Given the description of an element on the screen output the (x, y) to click on. 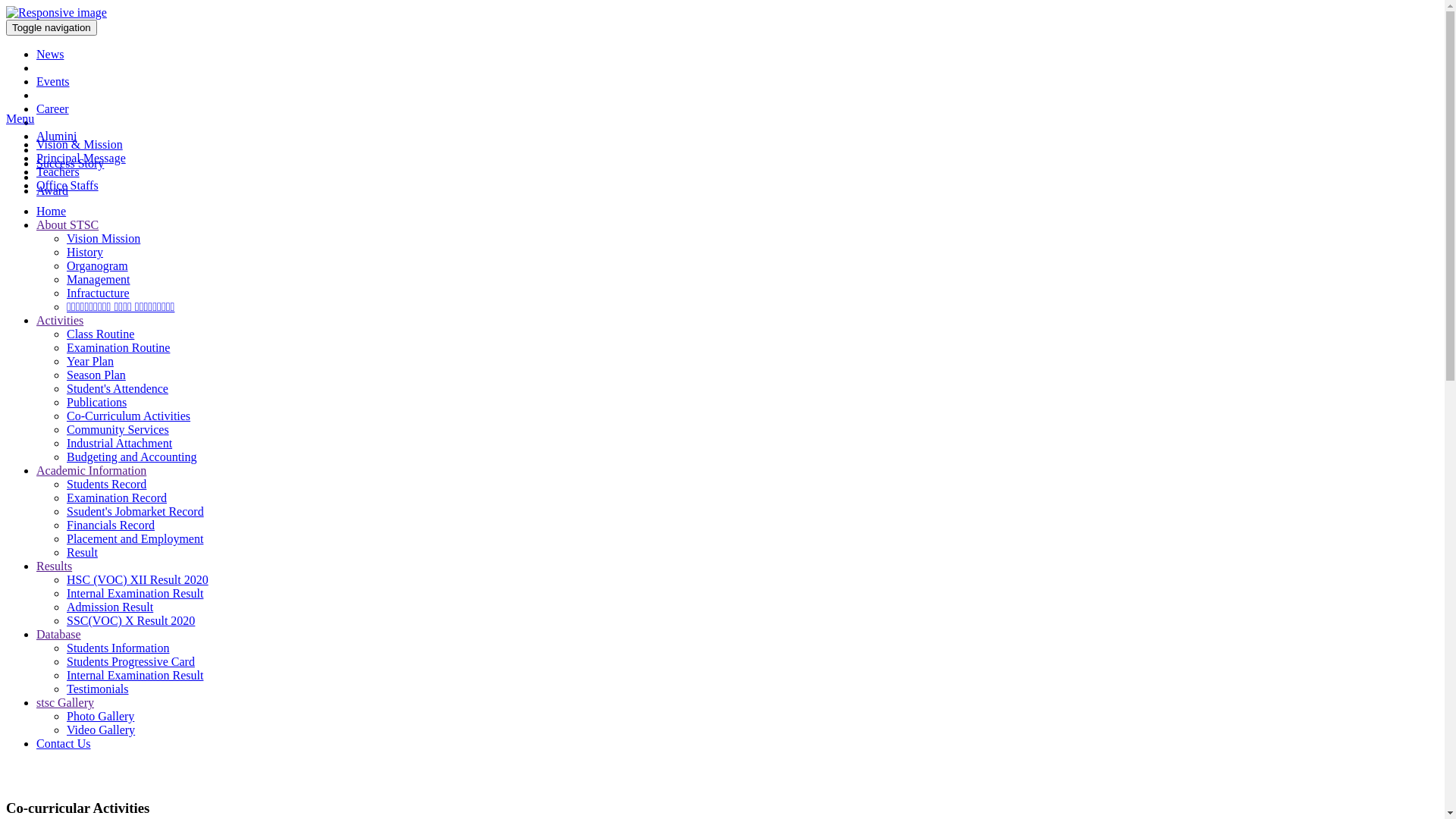
Season Plan Element type: text (95, 374)
Principal Message Element type: text (80, 157)
Vision Mission Element type: text (103, 238)
Examination Routine Element type: text (117, 347)
Menu Element type: text (20, 118)
Students Information Element type: text (117, 647)
Students Record Element type: text (106, 483)
Organogram Element type: text (97, 265)
Examination Record Element type: text (116, 497)
Career Element type: text (52, 108)
Contact Us Element type: text (63, 743)
SSC(VOC) X Result 2020 Element type: text (130, 620)
Ssudent's Jobmarket Record Element type: text (134, 511)
Testimonials Element type: text (97, 688)
Year Plan Element type: text (89, 360)
Office Staffs Element type: text (67, 184)
Publications Element type: text (96, 401)
History Element type: text (84, 251)
HSC (VOC) XII Result 2020 Element type: text (137, 579)
About STSC Element type: text (67, 224)
Toggle navigation Element type: text (51, 27)
Success Story Element type: text (69, 162)
Placement and Employment Element type: text (134, 538)
Home Element type: text (50, 210)
News Element type: text (49, 53)
Internal Examination Result Element type: text (134, 674)
Financials Record Element type: text (110, 524)
Result Element type: text (81, 552)
Database Element type: text (58, 633)
Activities Element type: text (59, 319)
Admission Result Element type: text (109, 606)
Academic Information Element type: text (91, 470)
Alumini Element type: text (56, 135)
Photo Gallery Element type: text (100, 715)
Management Element type: text (98, 279)
stsc Gallery Element type: text (65, 702)
Class Routine Element type: text (100, 333)
Video Gallery Element type: text (100, 729)
Results Element type: text (54, 565)
Award Element type: text (52, 190)
Infractucture Element type: text (97, 292)
Events Element type: text (52, 81)
Vision & Mission Element type: text (79, 144)
Internal Examination Result Element type: text (134, 592)
Budgeting and Accounting Element type: text (131, 456)
Community Services Element type: text (117, 429)
Co-Curriculum Activities Element type: text (128, 415)
Students Progressive Card Element type: text (130, 661)
Student's Attendence Element type: text (117, 388)
Industrial Attachment Element type: text (119, 442)
Teachers Element type: text (57, 171)
